Given the description of an element on the screen output the (x, y) to click on. 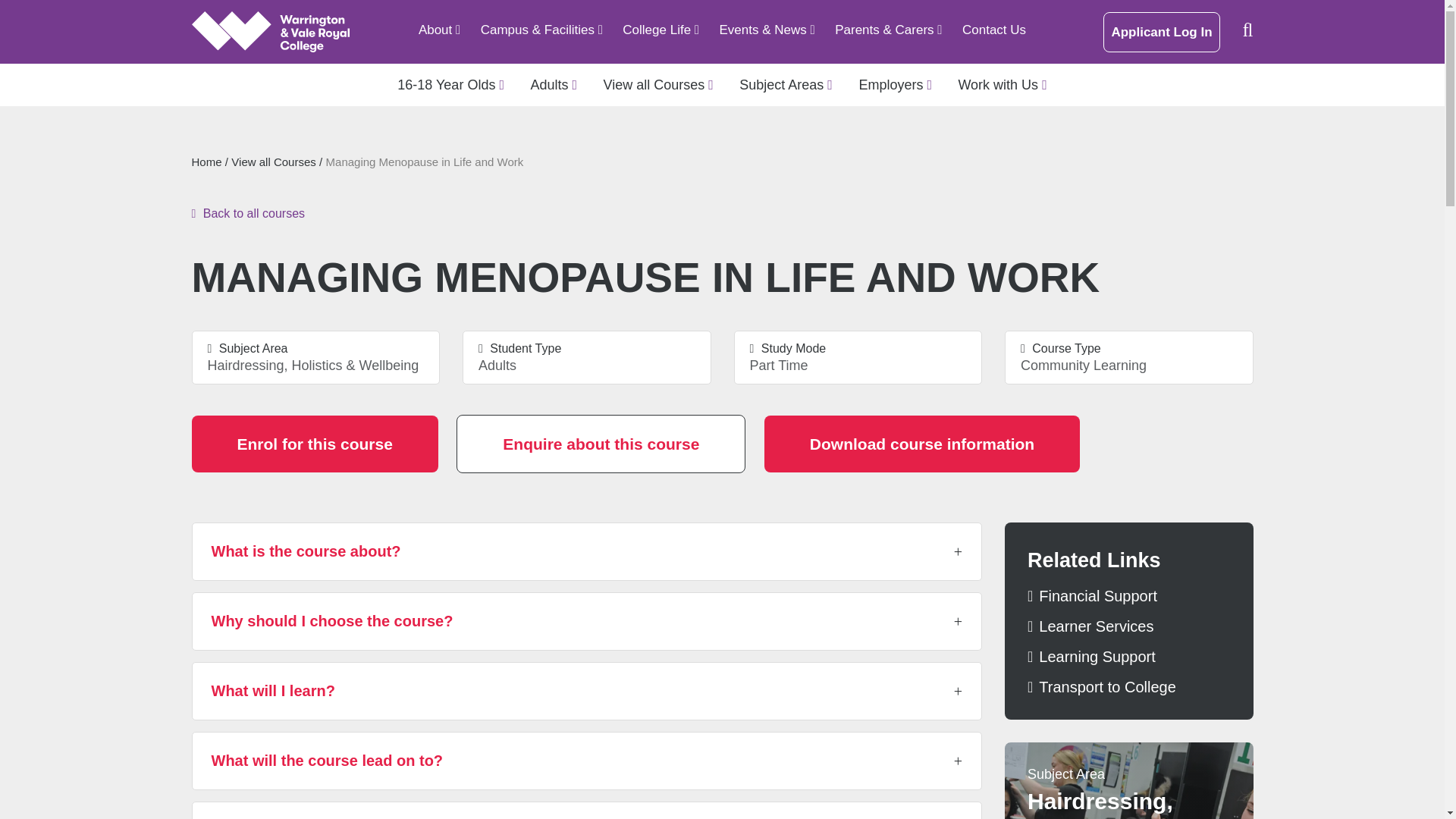
Managing Menopause in Life and Work (660, 29)
Managing Menopause in Life and Work (541, 29)
Link Home (269, 31)
College Life (660, 29)
